Given the description of an element on the screen output the (x, y) to click on. 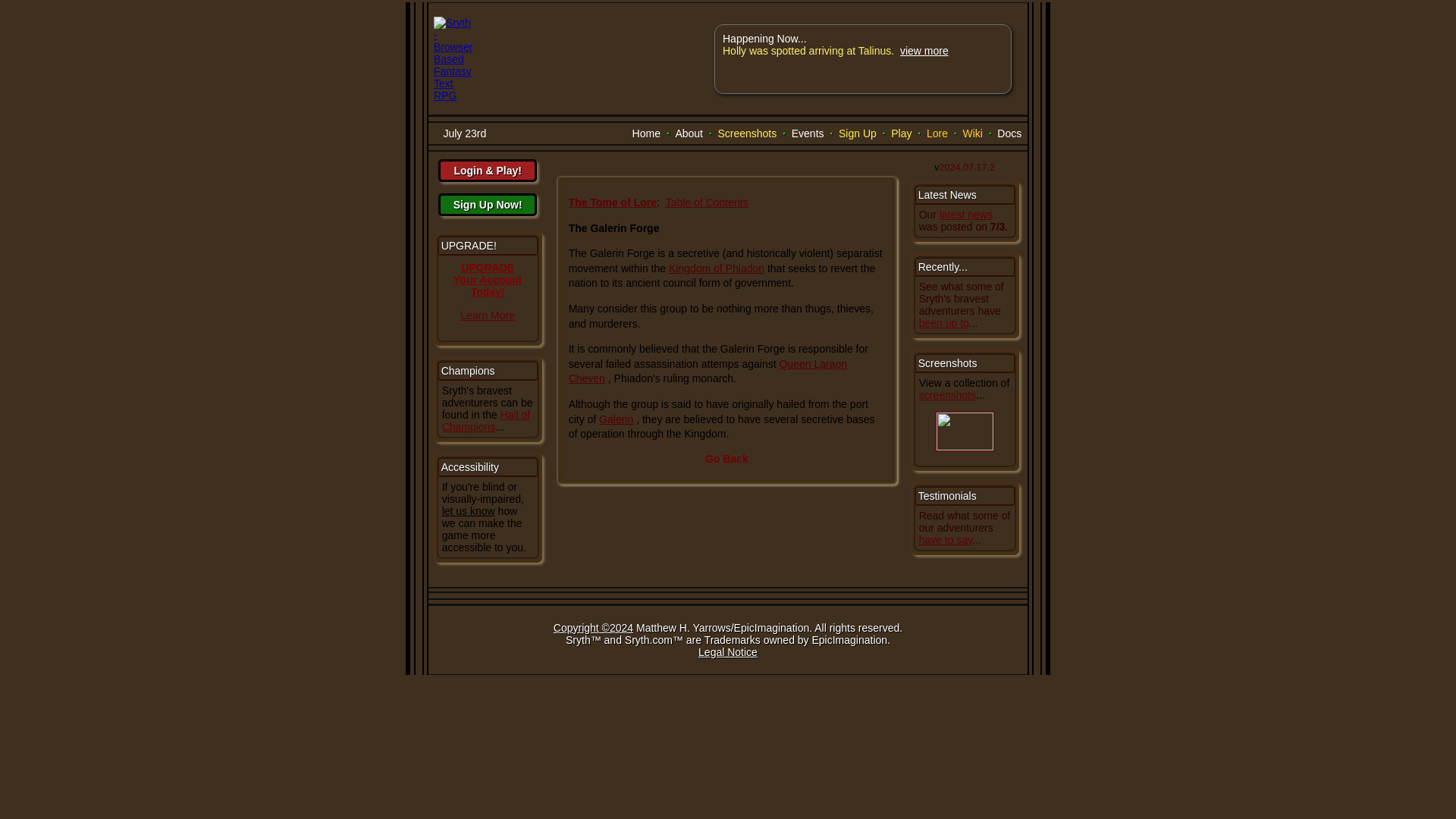
Kingdom of Phiadon (716, 268)
Sign Up Now! (486, 204)
Queen Laraon Cheven (708, 370)
Hall of Champions (486, 420)
Play (901, 133)
have to say (945, 539)
Champions (468, 370)
Table of Contents (706, 202)
Screenshots (947, 363)
Docs (1009, 133)
About (689, 133)
Latest News (947, 194)
Recently... (943, 266)
view more (924, 50)
Events (808, 133)
